Given the description of an element on the screen output the (x, y) to click on. 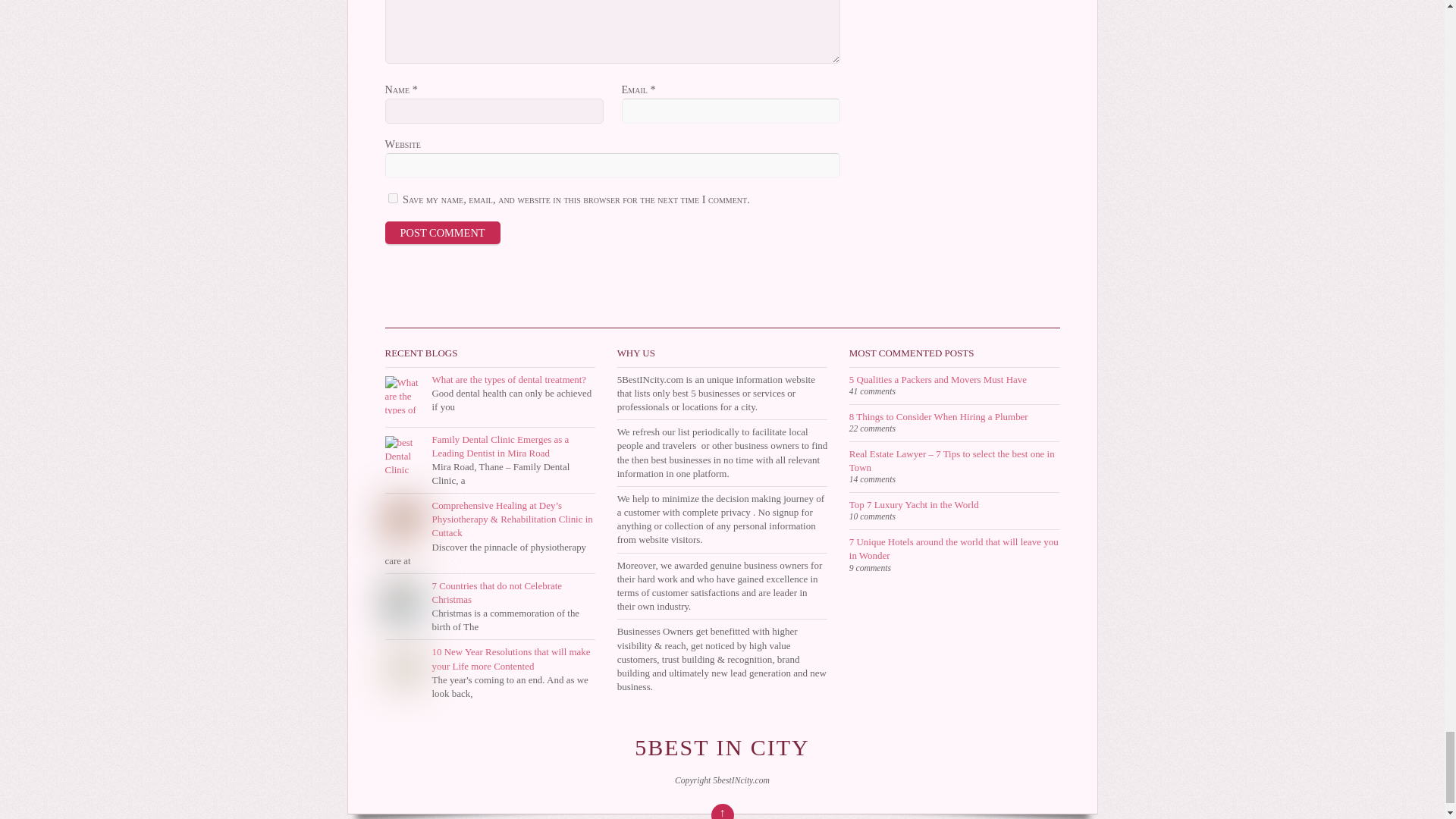
countries-where-christmas-is-not-celebrated (404, 600)
family-dental-clinic-mira-road (404, 454)
deys-clinic (404, 520)
Post Comment (442, 232)
new-year-resolution (404, 667)
5Best In City (721, 747)
What are the types of dental treatment (404, 394)
yes (392, 198)
